Given the description of an element on the screen output the (x, y) to click on. 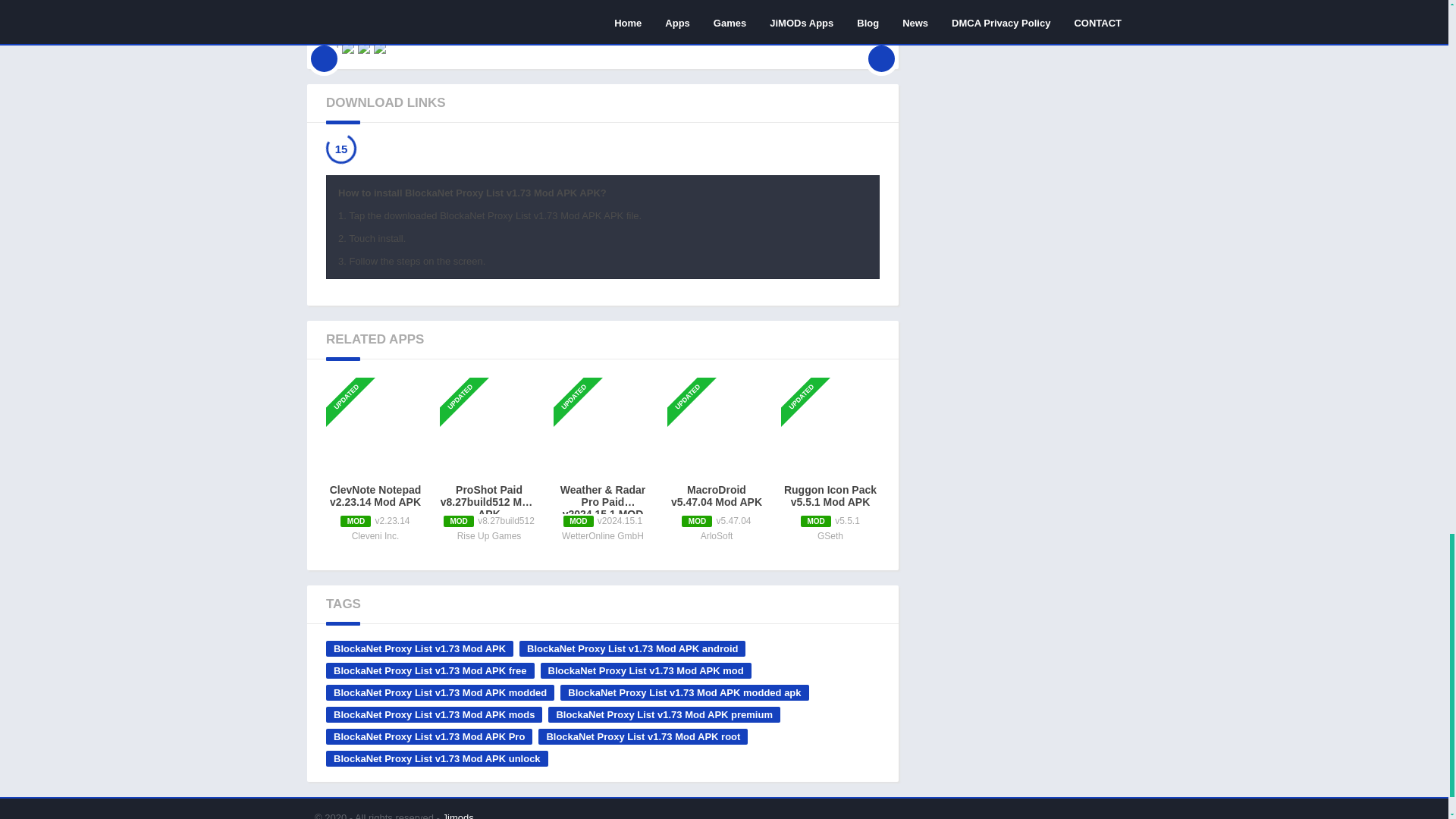
Previous (323, 47)
Next (881, 47)
